Given the description of an element on the screen output the (x, y) to click on. 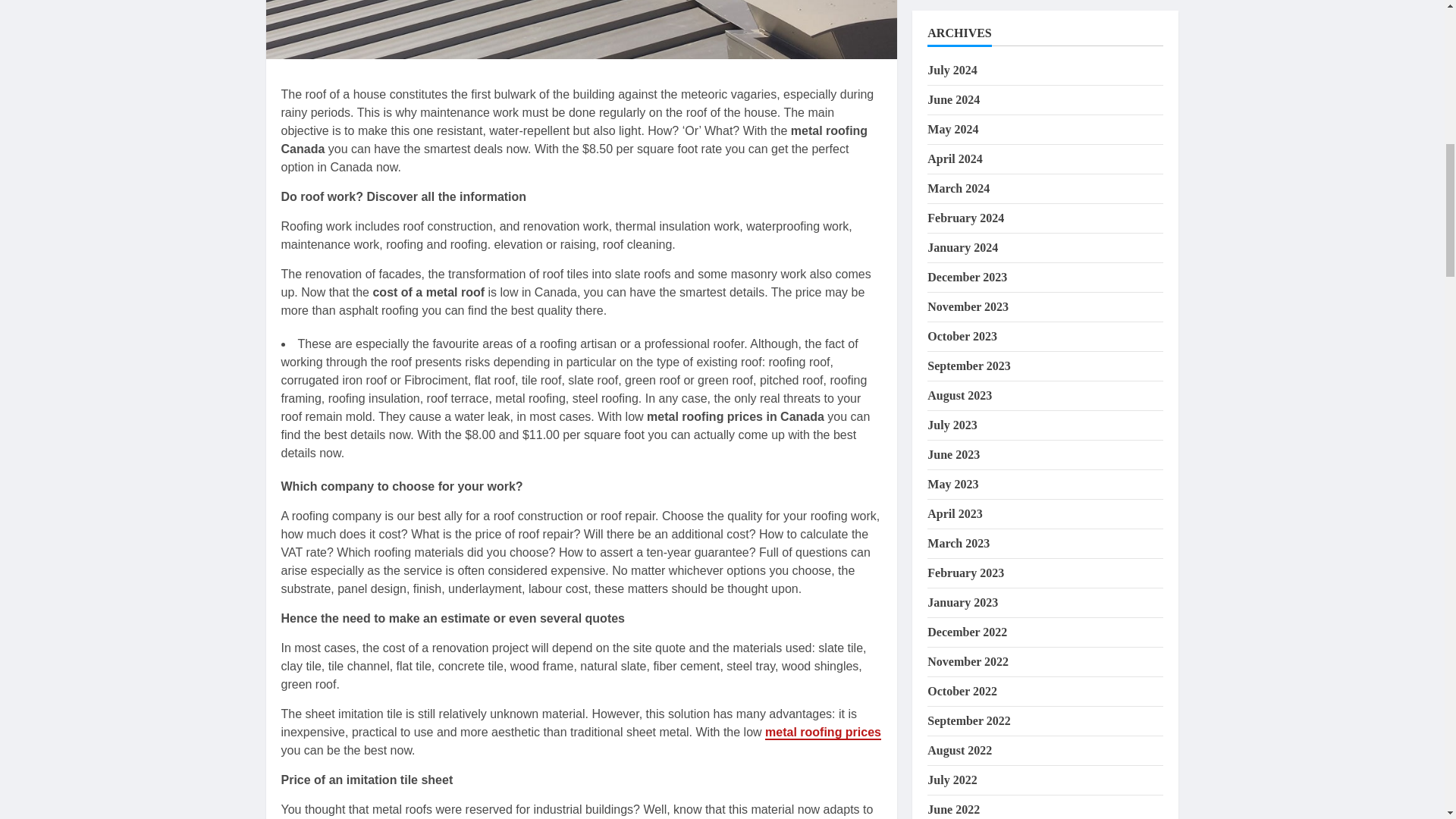
metal roofing prices (822, 732)
